Given the description of an element on the screen output the (x, y) to click on. 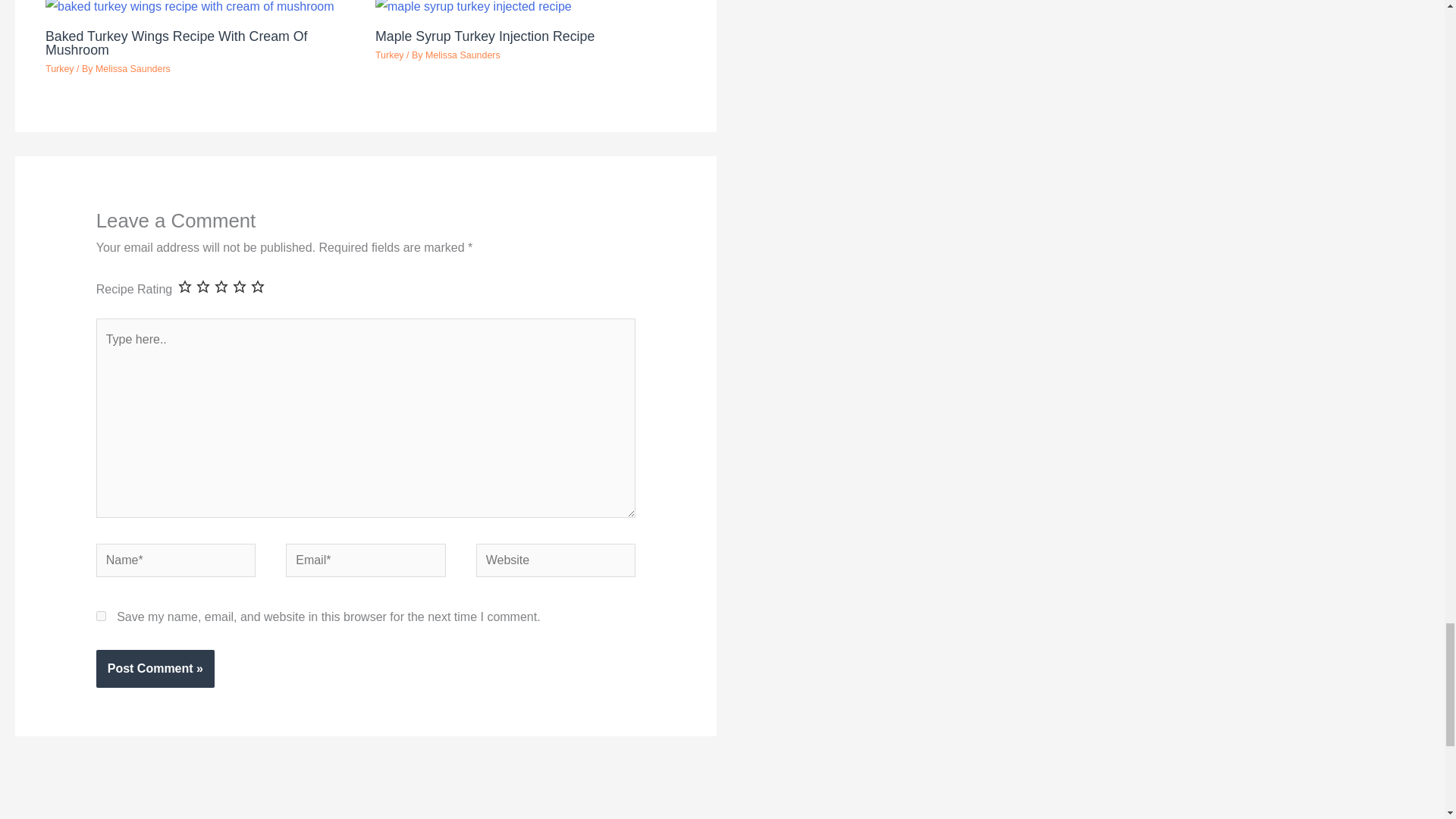
View all posts by Melissa Saunders (462, 54)
yes (101, 615)
View all posts by Melissa Saunders (133, 68)
